Given the description of an element on the screen output the (x, y) to click on. 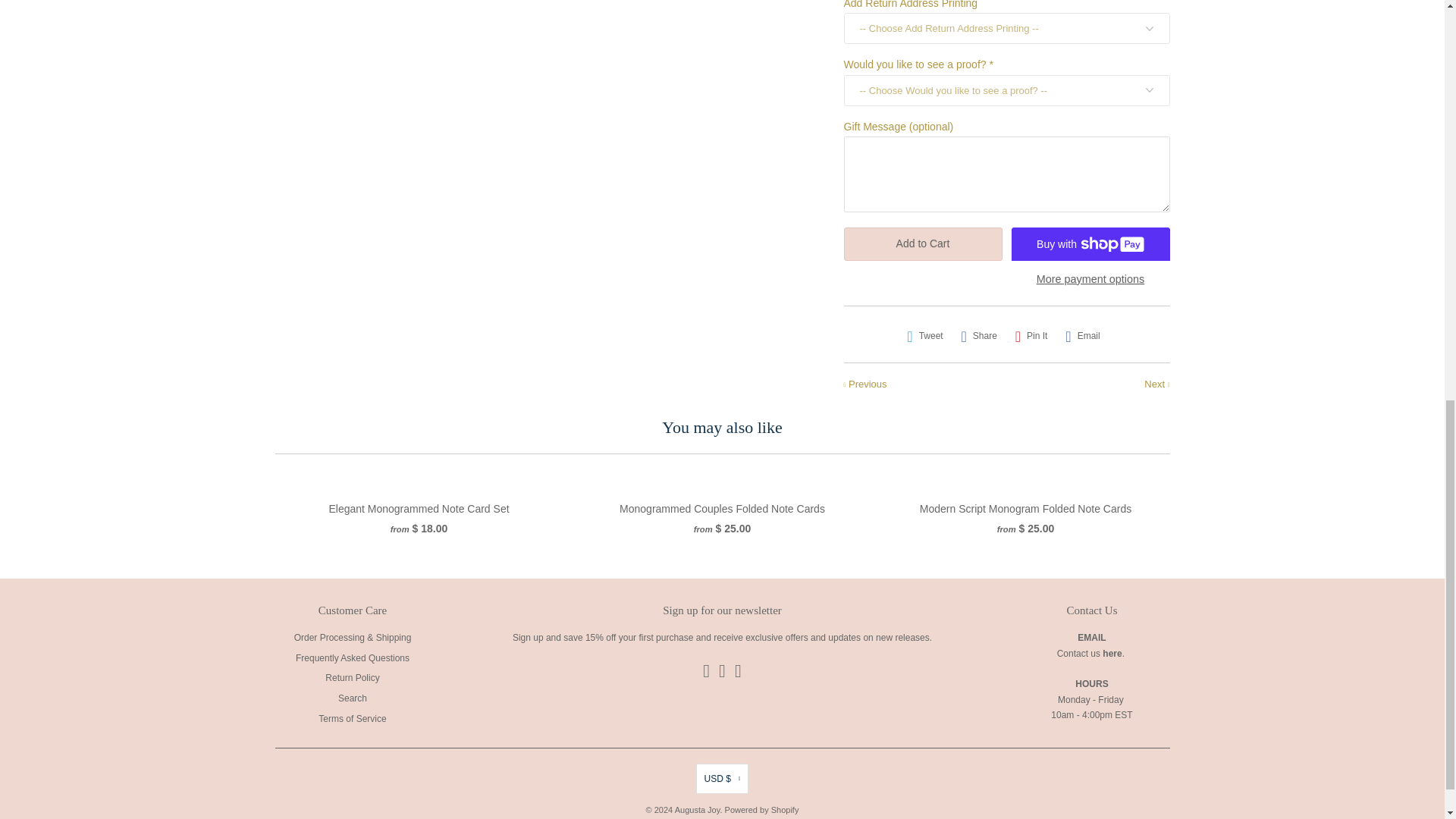
Share this on Twitter (924, 335)
Share this on Facebook (978, 335)
Email this to a friend (1082, 335)
Share this on Pinterest (1031, 335)
